Given the description of an element on the screen output the (x, y) to click on. 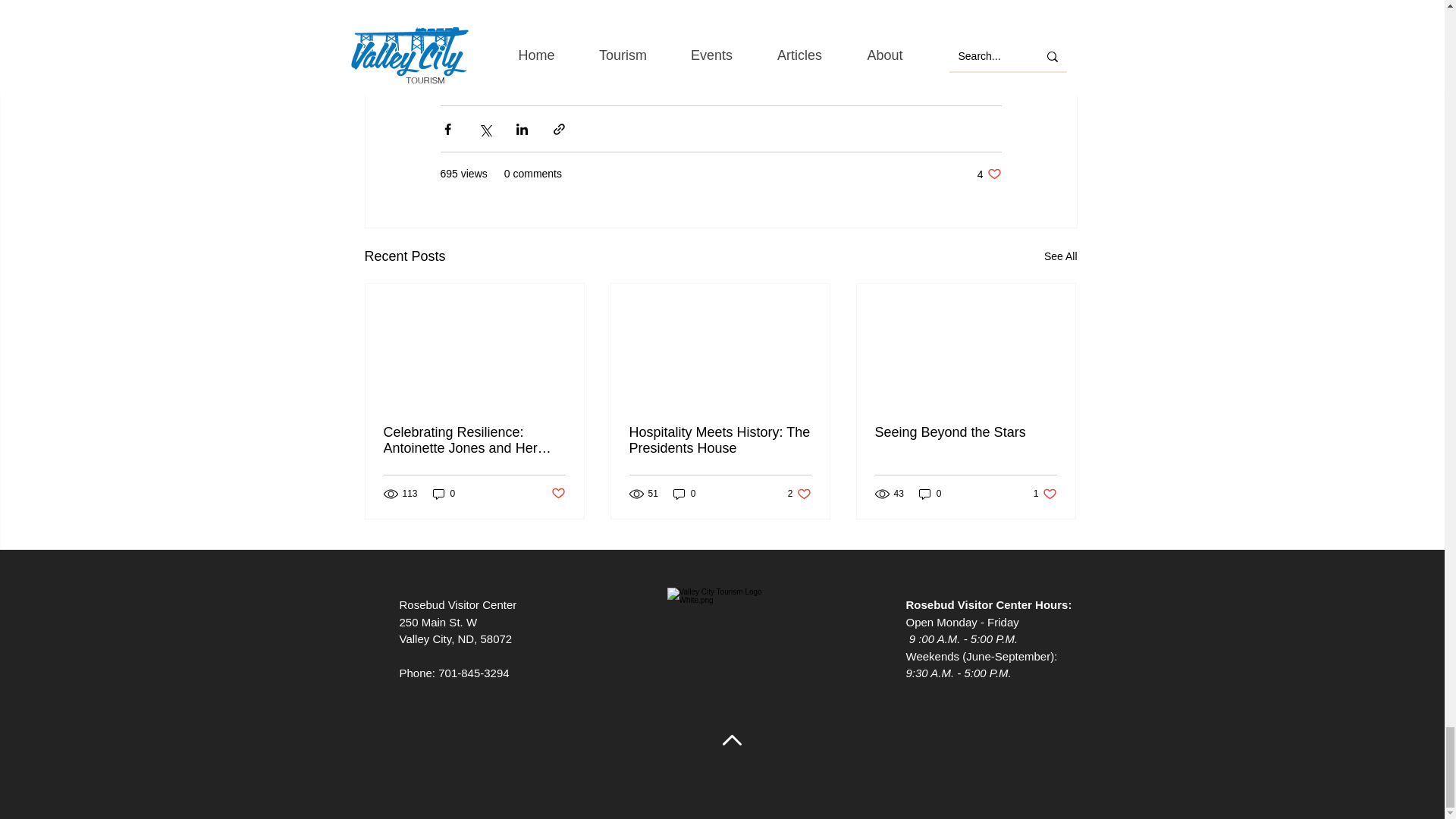
See All (1060, 256)
Seeing Beyond the Stars (966, 432)
0 (443, 493)
0 (684, 493)
Post not marked as liked (557, 494)
Hospitality Meets History: The Presidents House (798, 493)
